Given the description of an element on the screen output the (x, y) to click on. 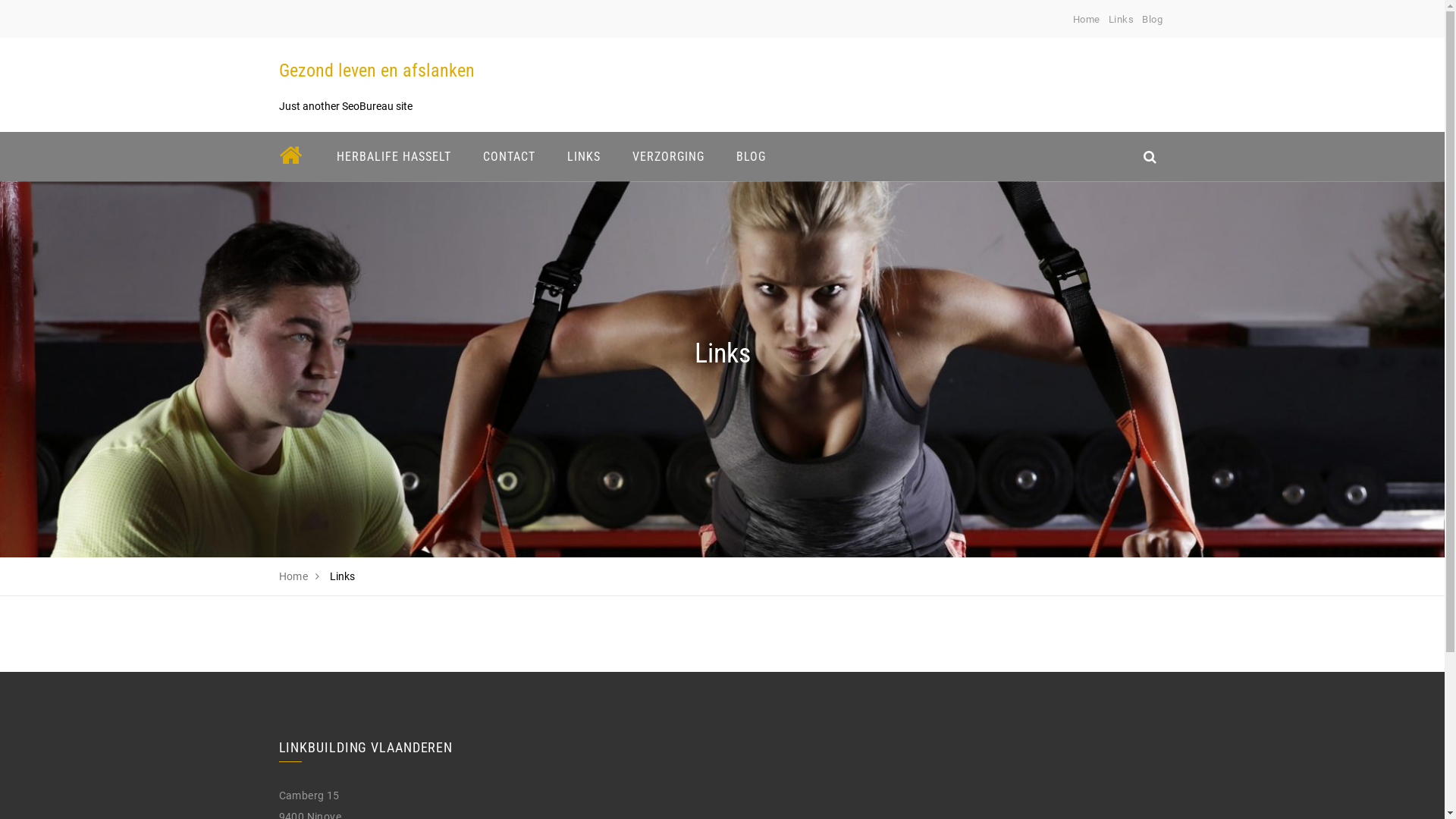
Blog Element type: text (1152, 19)
search_icon Element type: hover (1148, 156)
Home Element type: text (293, 576)
VERZORGING Element type: text (667, 156)
HERBALIFE HASSELT Element type: text (393, 156)
BLOG Element type: text (750, 156)
CONTACT Element type: text (509, 156)
Links Element type: text (1121, 19)
Gezond leven en afslanken Element type: text (376, 70)
LINKS Element type: text (582, 156)
Home Element type: text (1086, 19)
